Given the description of an element on the screen output the (x, y) to click on. 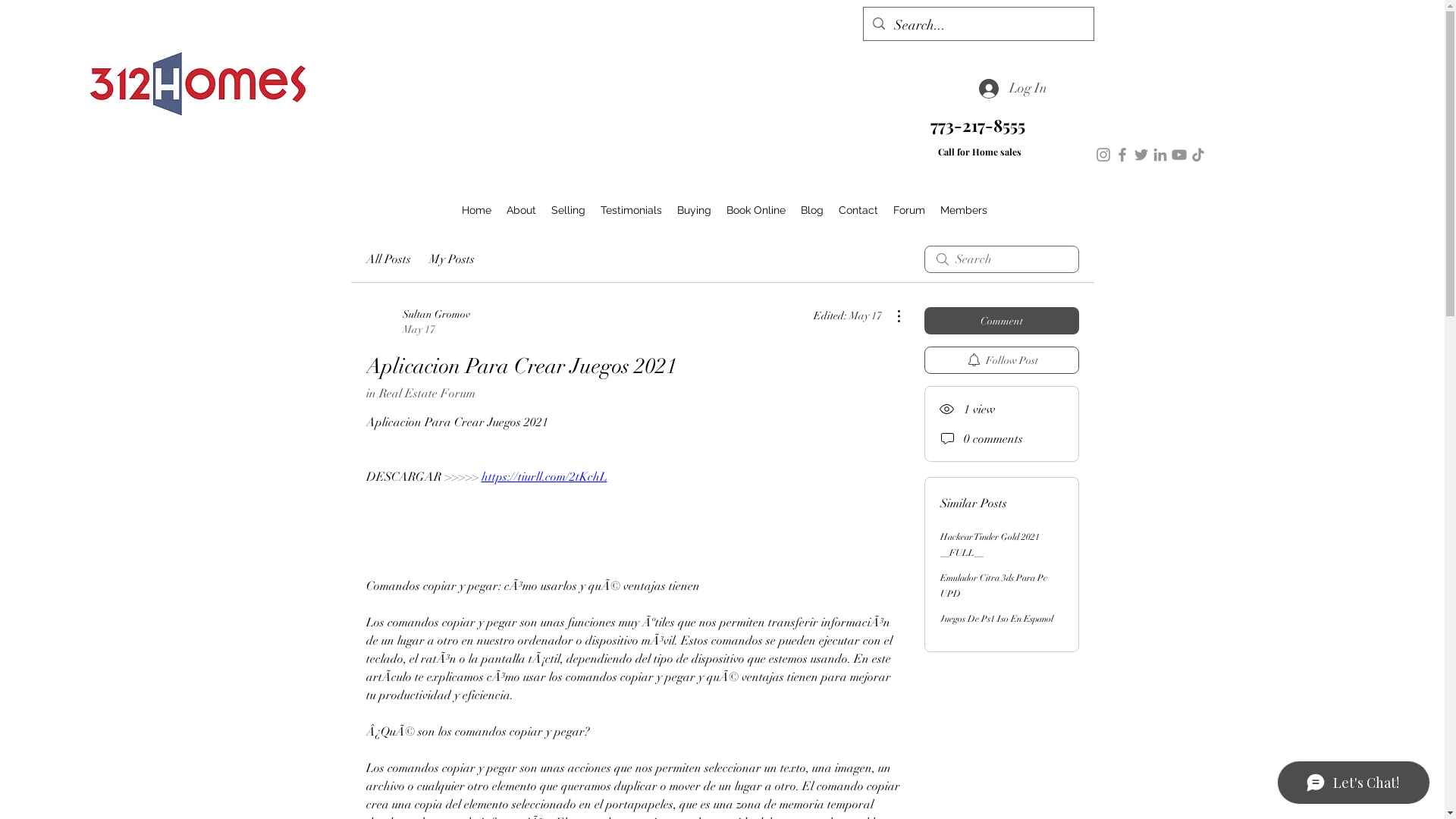
312Homes Main Logo 2400x1800 Red.jpg Element type: hover (198, 79)
Testimonials Element type: text (631, 210)
Sultan Gromov
May 17 Element type: text (417, 322)
Buying Element type: text (693, 210)
My Posts Element type: text (451, 259)
All Posts Element type: text (387, 259)
https://tiurll.com/2tKchL Element type: text (543, 476)
About Element type: text (520, 210)
Log In Element type: text (1012, 88)
Blog Element type: text (812, 210)
Forum Element type: text (908, 210)
Follow Post Element type: text (1000, 359)
Home Element type: text (476, 210)
Emulador Citra 3ds Para Pc UPD Element type: text (993, 585)
Members Element type: text (963, 210)
Hackear Tinder Gold 2021 __FULL__ Element type: text (989, 544)
Selling Element type: text (568, 210)
Contact Element type: text (858, 210)
in Real Estate Forum Element type: text (419, 393)
Juegos De Ps1 Iso En Espanol Element type: text (996, 618)
Comment Element type: text (1000, 320)
Book Online Element type: text (755, 210)
